Given the description of an element on the screen output the (x, y) to click on. 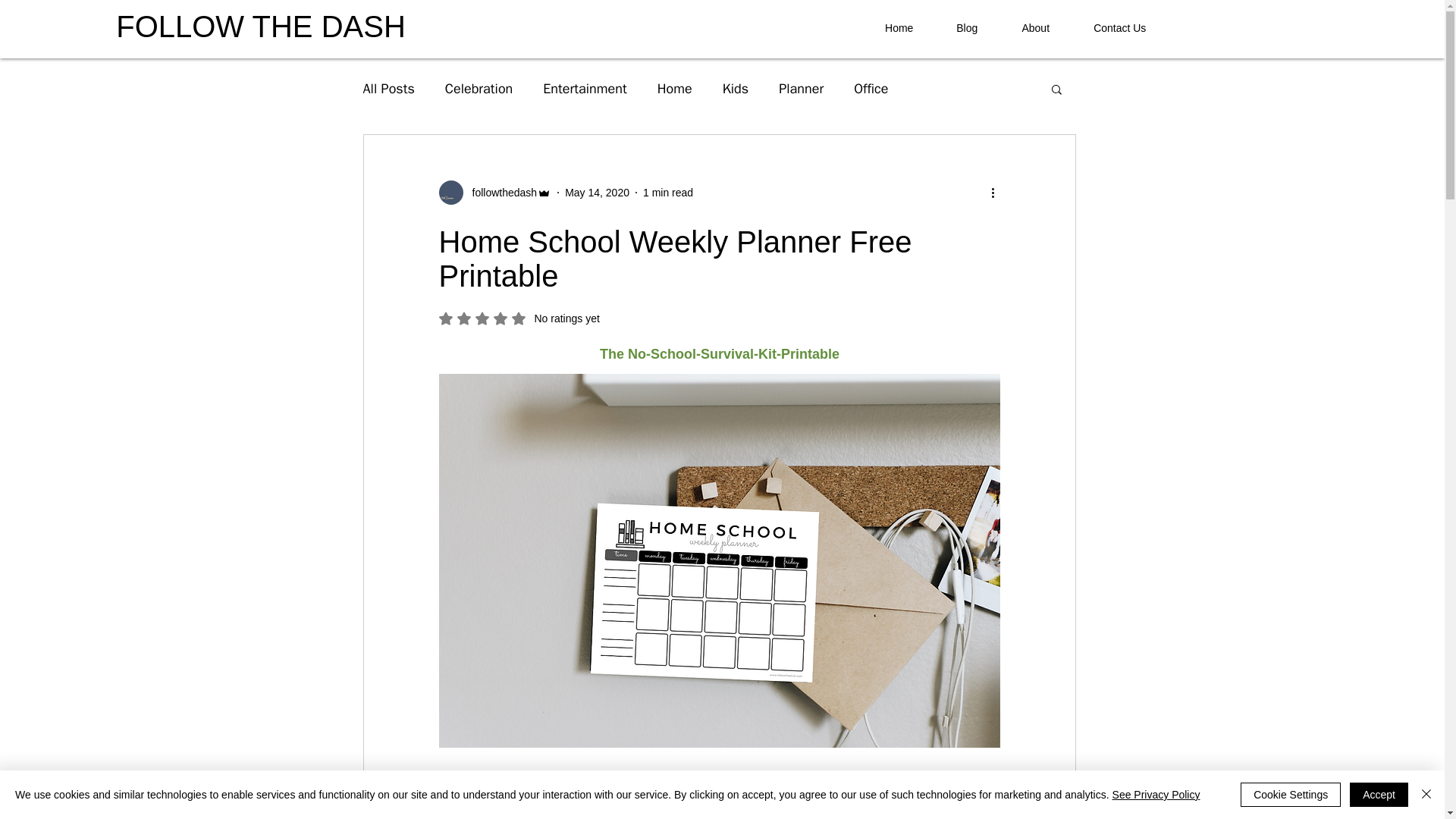
Office (870, 88)
Contact Us (1119, 27)
Planner (801, 88)
Kids (735, 88)
Blog (518, 318)
followthedash (966, 27)
Entertainment (494, 192)
followthedash (584, 88)
May 14, 2020 (500, 192)
Home (596, 192)
Celebration (898, 27)
Home (478, 88)
All Posts (675, 88)
1 min read (387, 88)
